Given the description of an element on the screen output the (x, y) to click on. 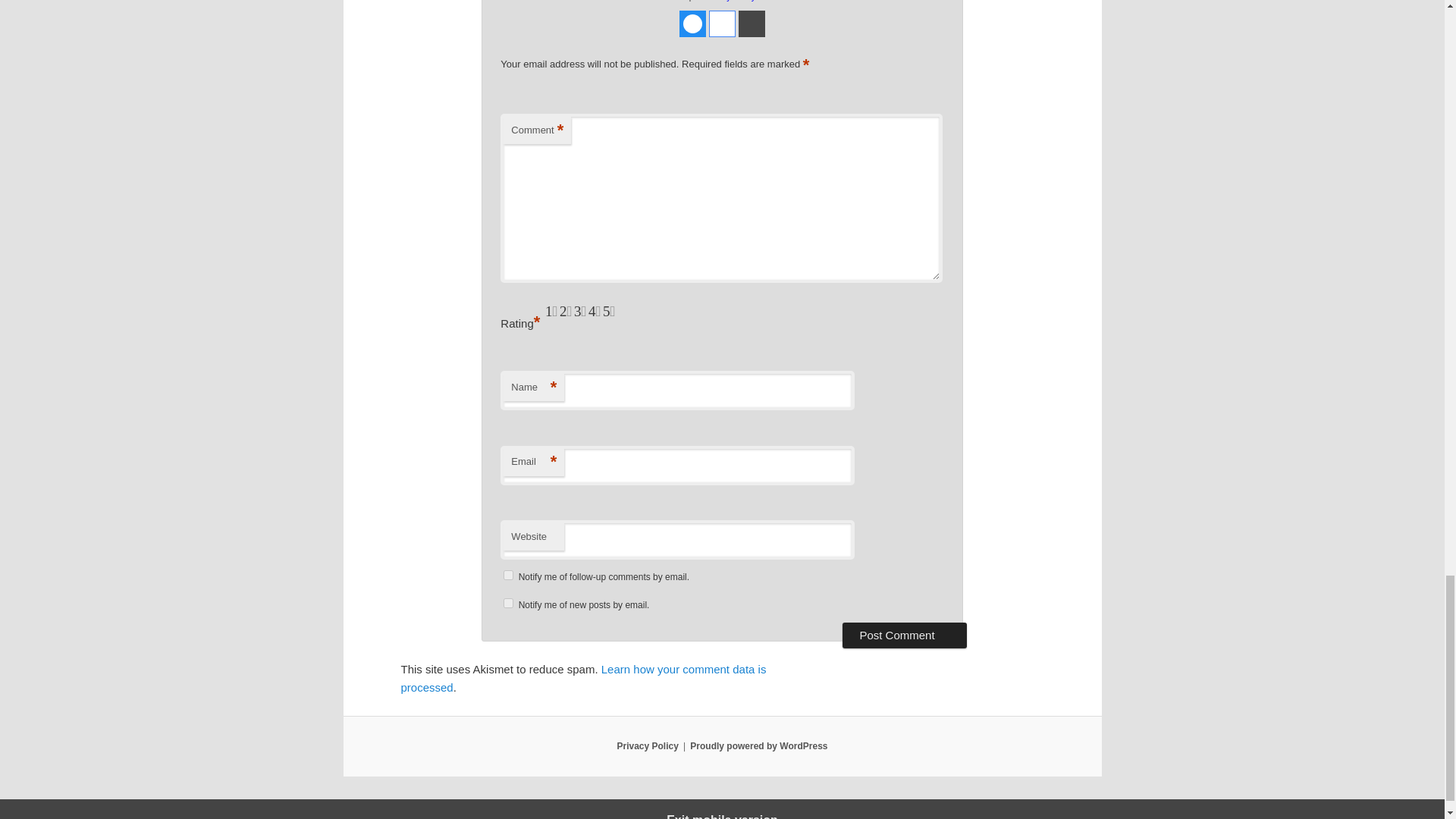
subscribe (508, 574)
subscribe (508, 603)
Post Comment (904, 635)
Semantic Personal Publishing Platform (758, 746)
Login with Wordpress (751, 23)
Login with Google (722, 23)
Login with Facebook (692, 23)
